Given the description of an element on the screen output the (x, y) to click on. 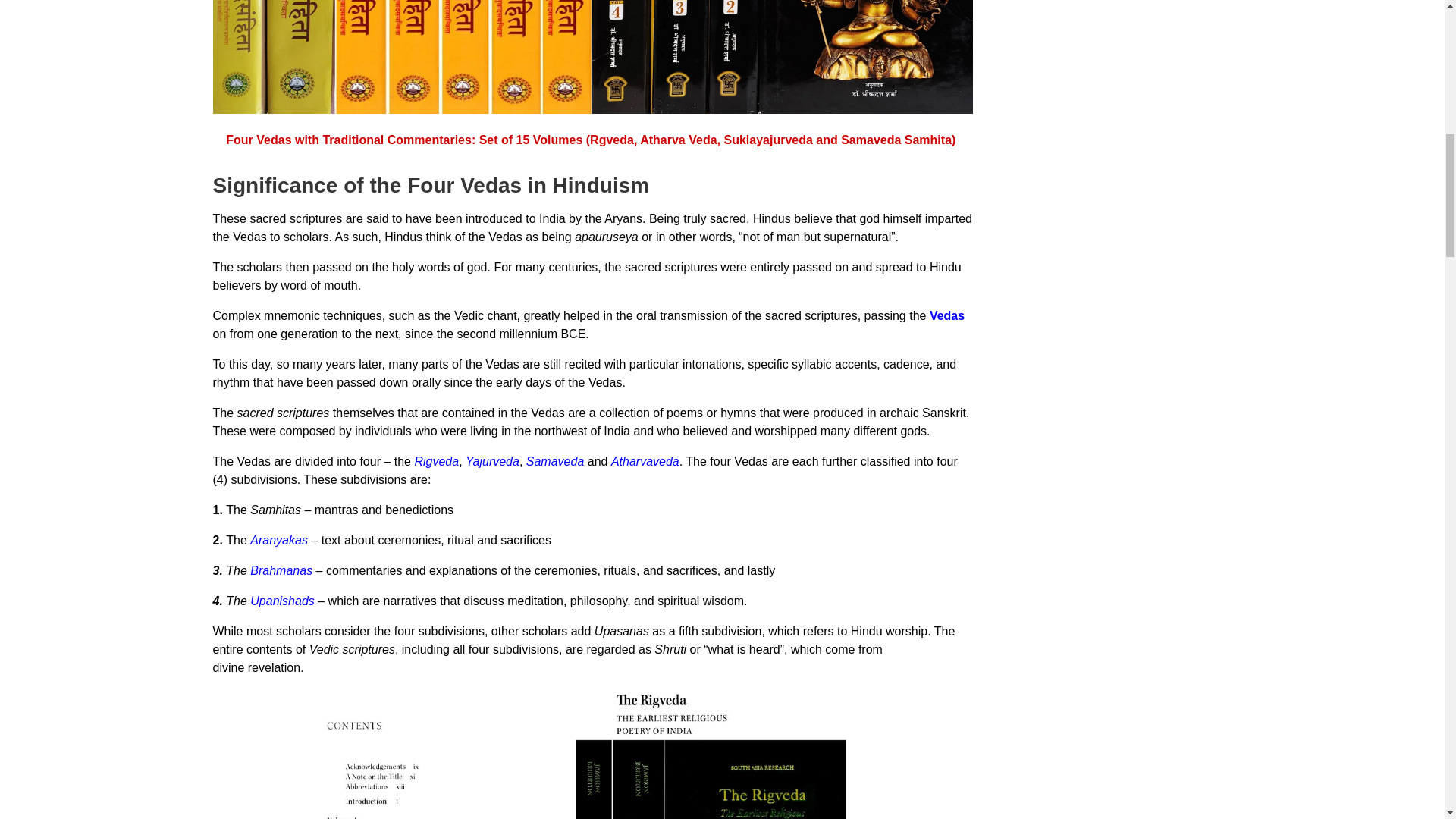
Atharvaveda (645, 461)
Vedas (946, 315)
Samaveda (555, 461)
Brahmanas (281, 570)
Aranyakas (278, 540)
Upanishads (282, 600)
Rigveda (435, 461)
Yajurveda (492, 461)
